Given the description of an element on the screen output the (x, y) to click on. 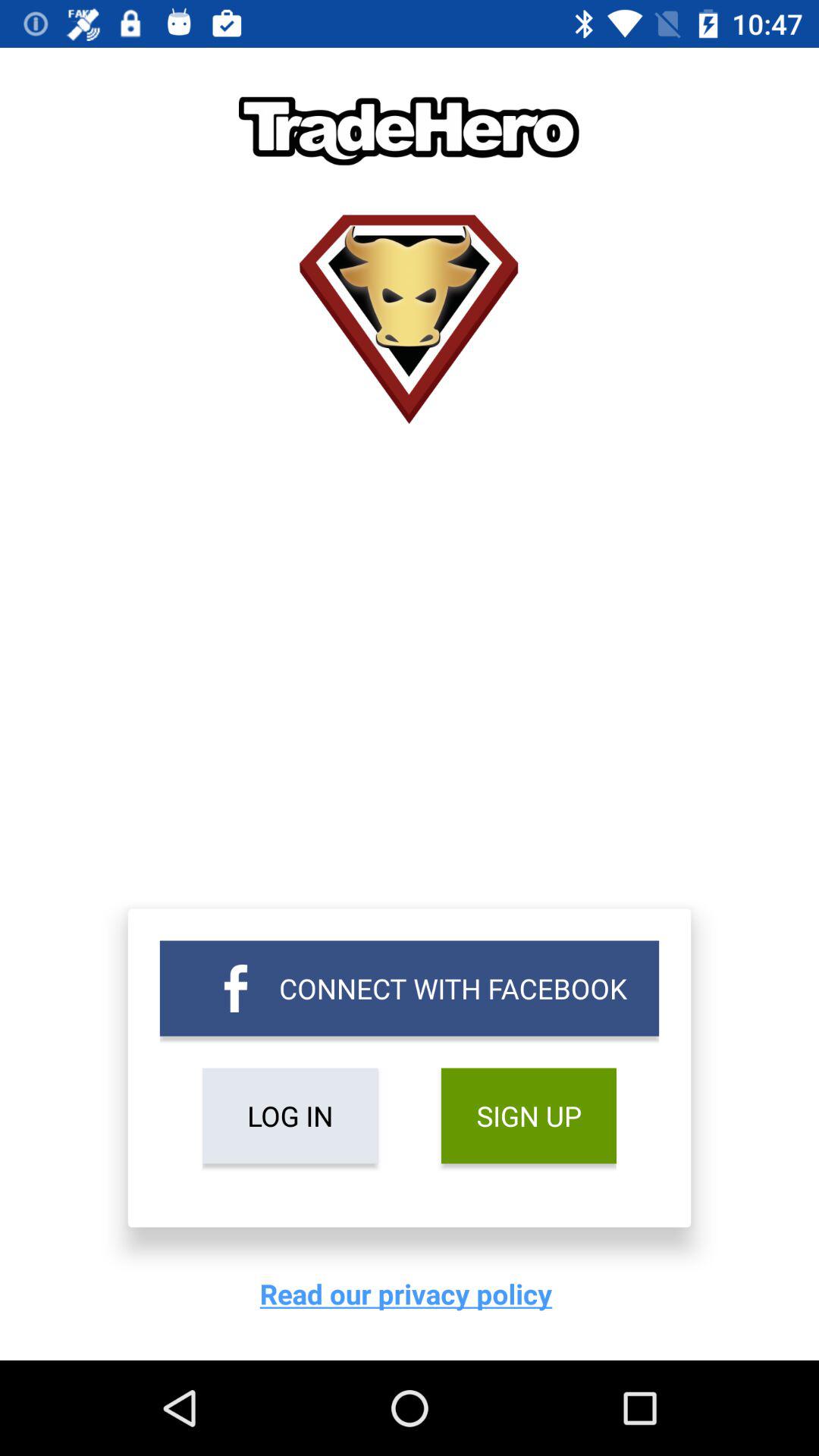
flip to connect with facebook (409, 988)
